Given the description of an element on the screen output the (x, y) to click on. 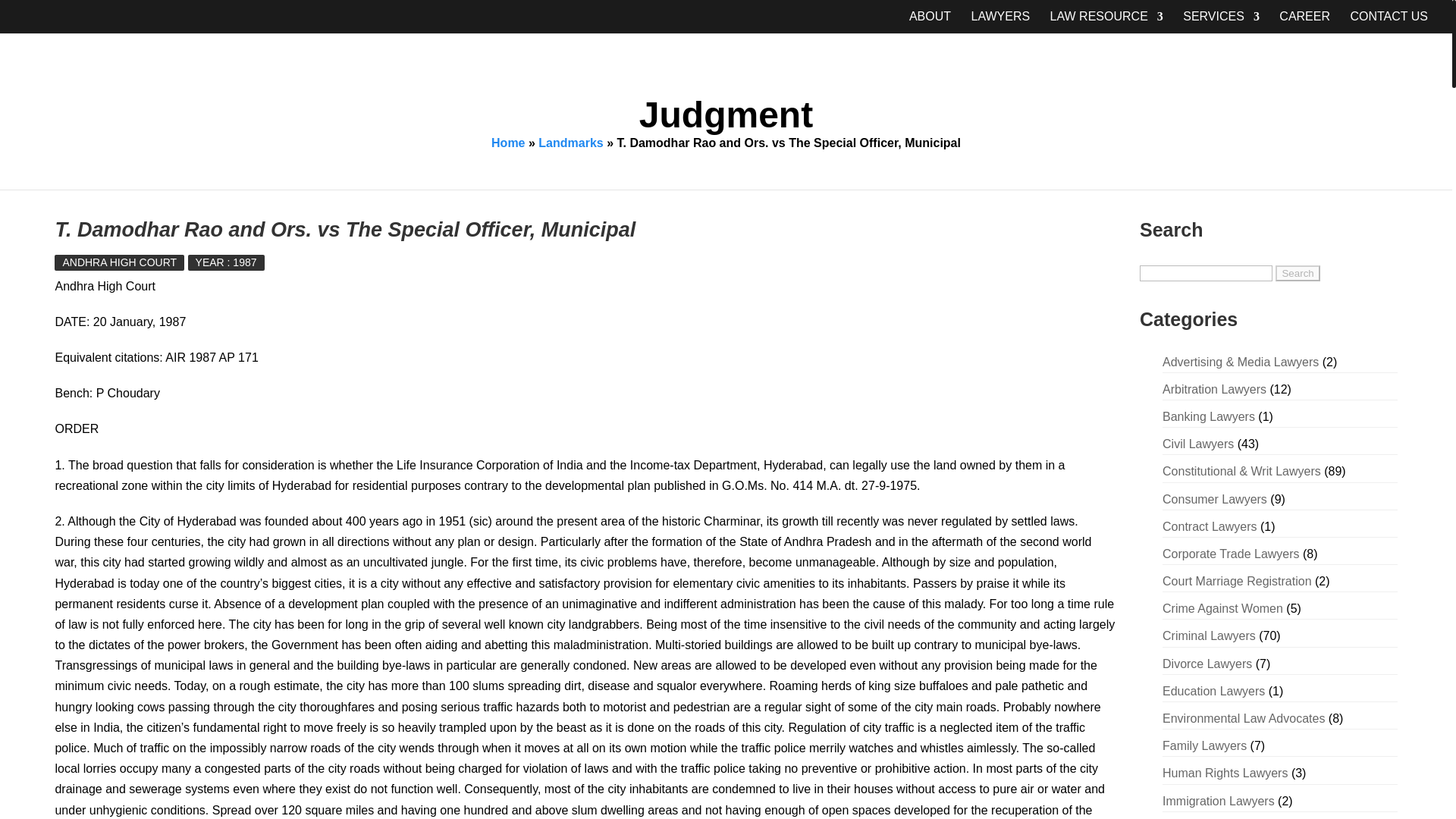
CONTACT US (1388, 22)
CAREER (1304, 22)
ABOUT (929, 22)
SERVICES (1220, 22)
Search (1297, 273)
LAW RESOURCE (1106, 22)
LAWYERS (1000, 22)
